Given the description of an element on the screen output the (x, y) to click on. 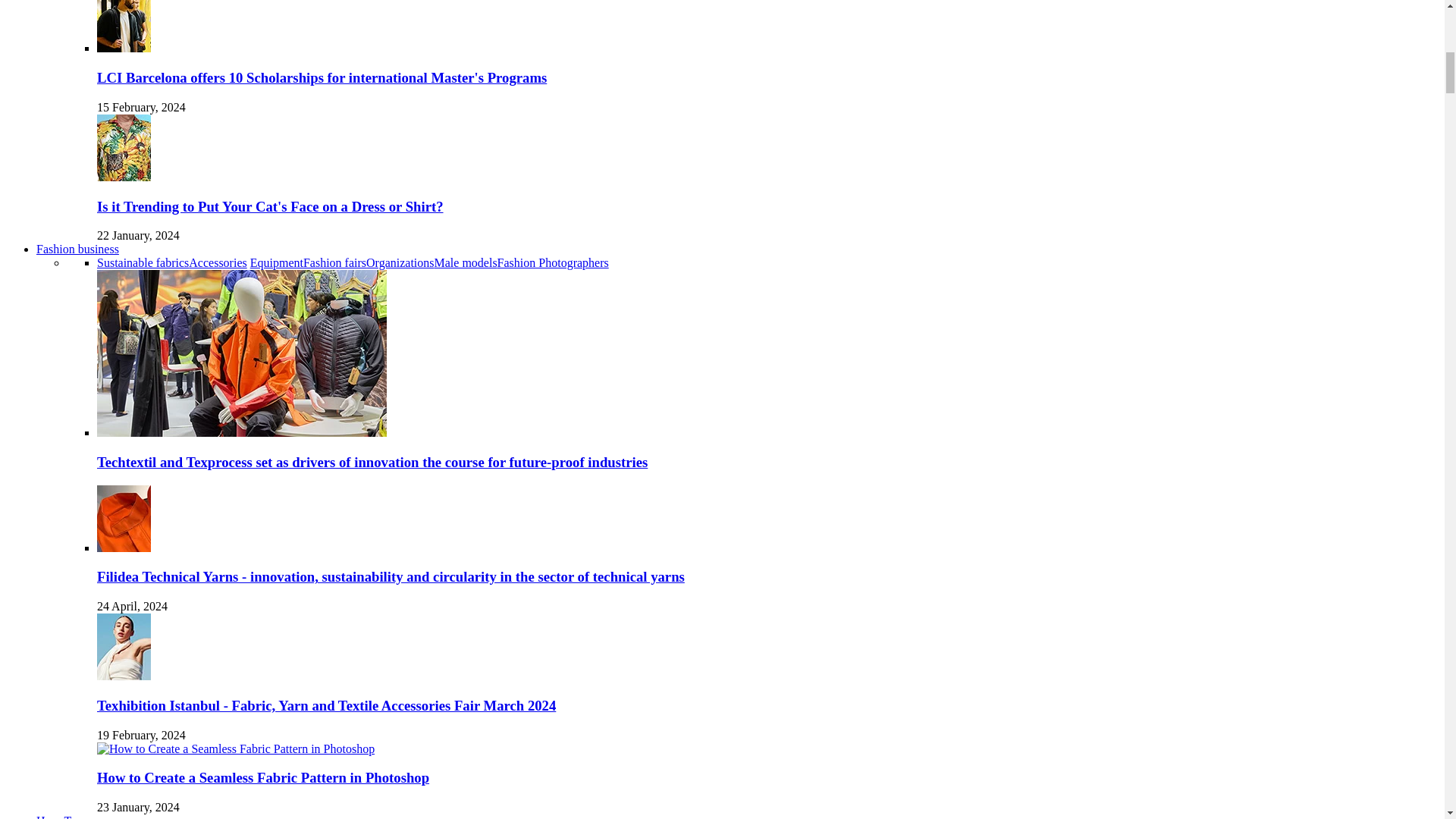
Fashion business (77, 248)
Is it Trending to Put Your Cat's Face on a Dress or Shirt? (270, 206)
